Given the description of an element on the screen output the (x, y) to click on. 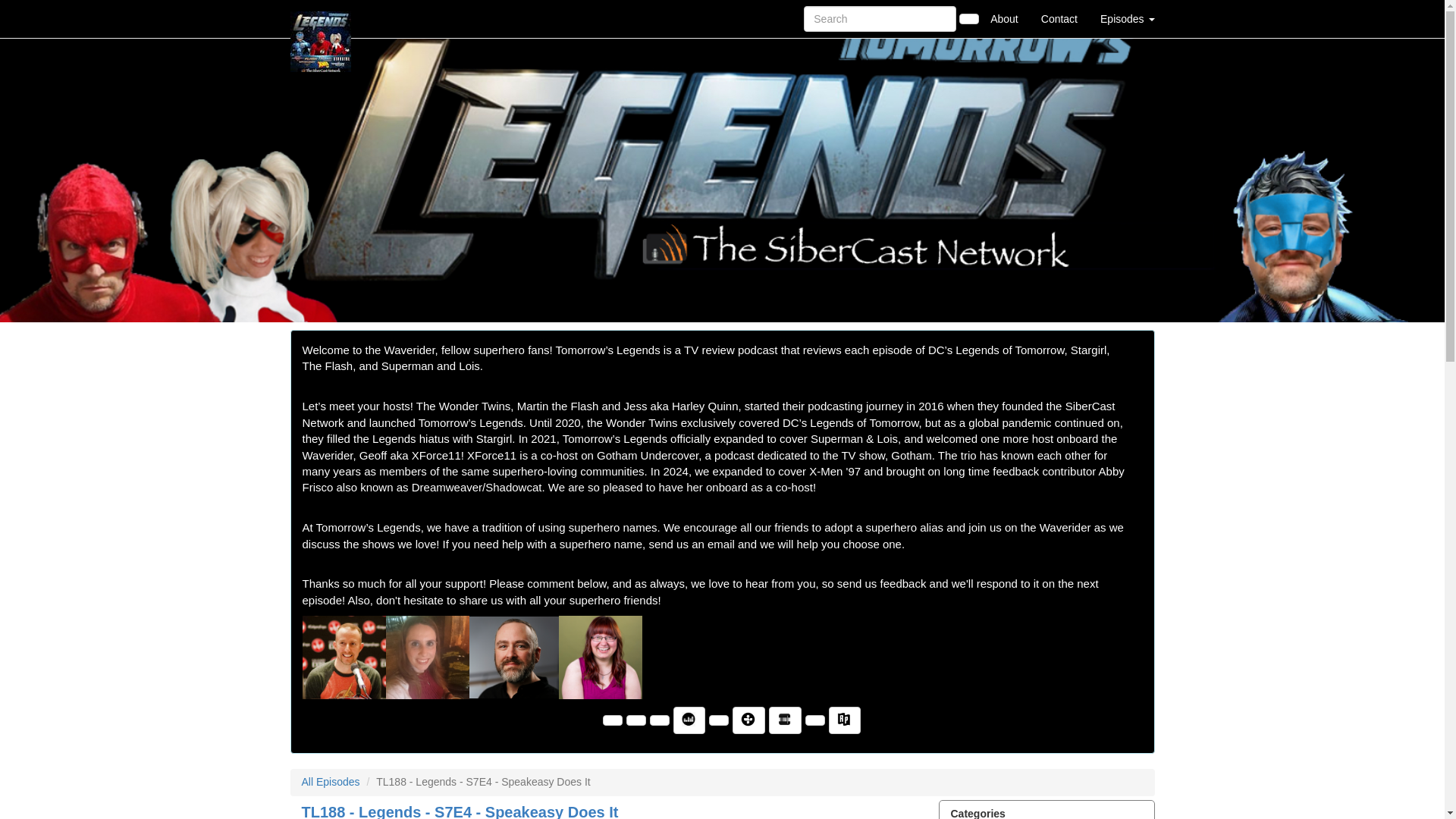
Episodes (1127, 18)
Contact (1059, 18)
About (1003, 18)
Home Page (320, 18)
